Given the description of an element on the screen output the (x, y) to click on. 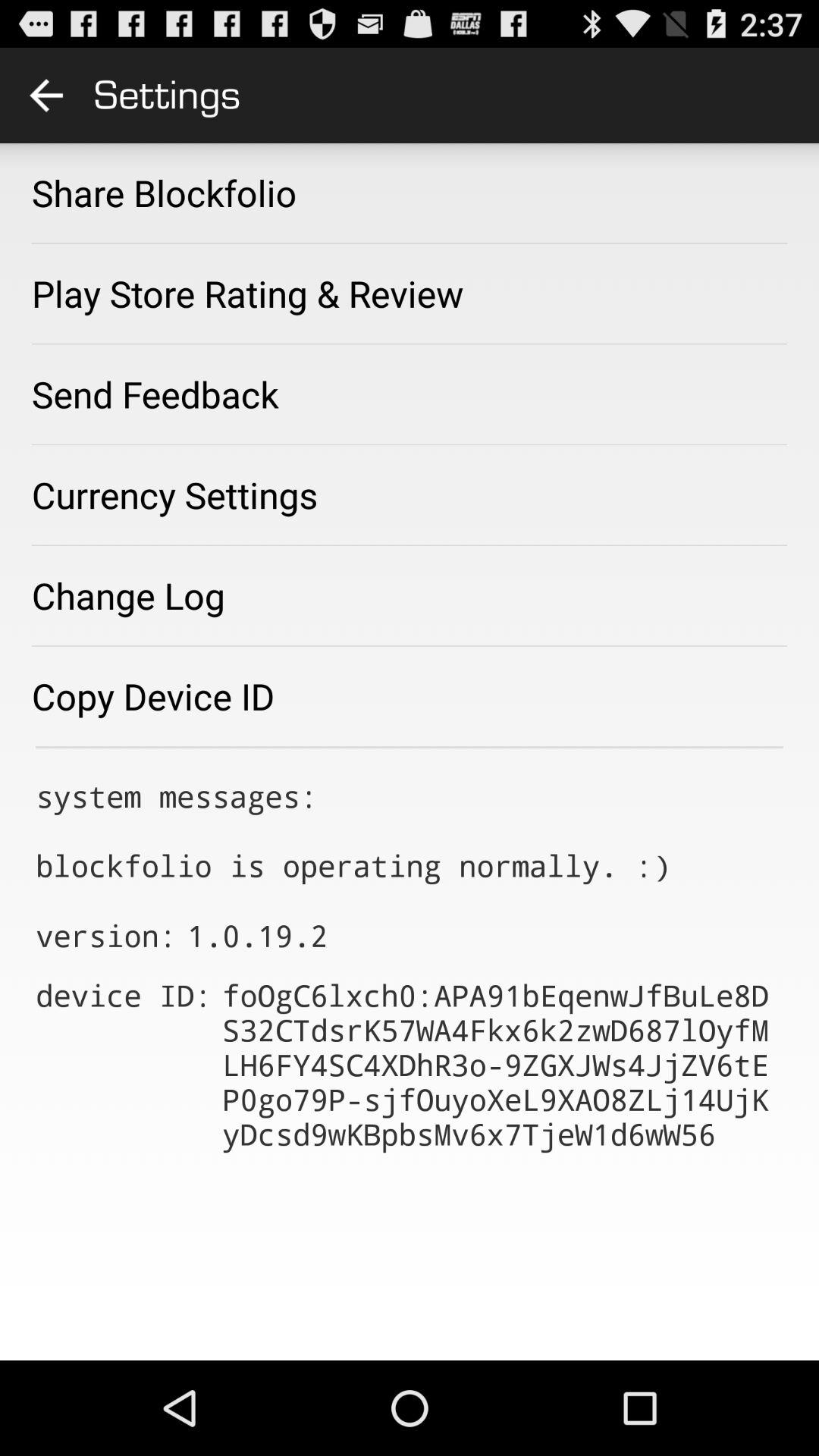
tap the item above change log app (174, 494)
